Given the description of an element on the screen output the (x, y) to click on. 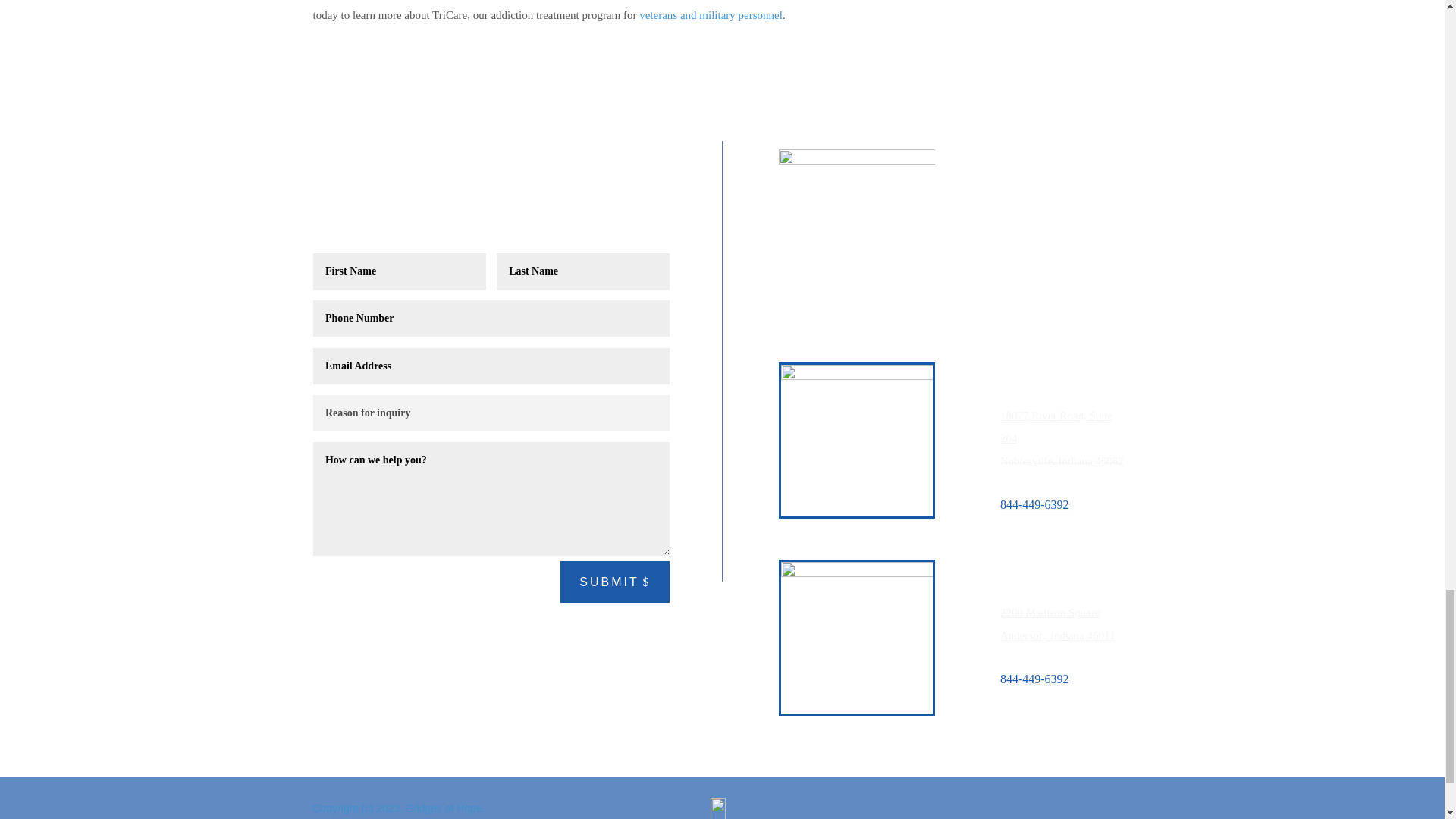
seal-jc (718, 808)
veterans and military personnel (711, 15)
map-noblesville (856, 440)
boh-logo-white (856, 192)
map-anderson (856, 637)
